Given the description of an element on the screen output the (x, y) to click on. 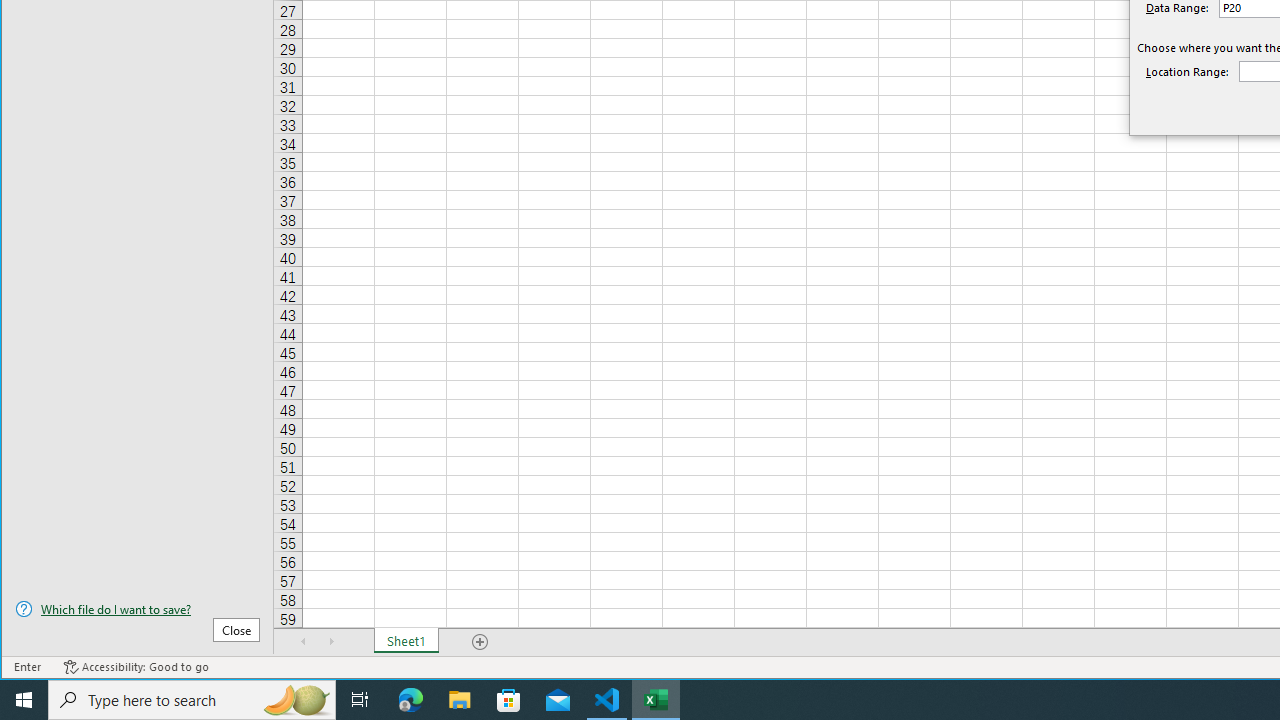
Which file do I want to save? (137, 609)
Close (235, 629)
Add Sheet (481, 641)
Scroll Left (303, 641)
Accessibility Checker Accessibility: Good to go (136, 667)
Scroll Right (331, 641)
Sheet1 (406, 641)
